Given the description of an element on the screen output the (x, y) to click on. 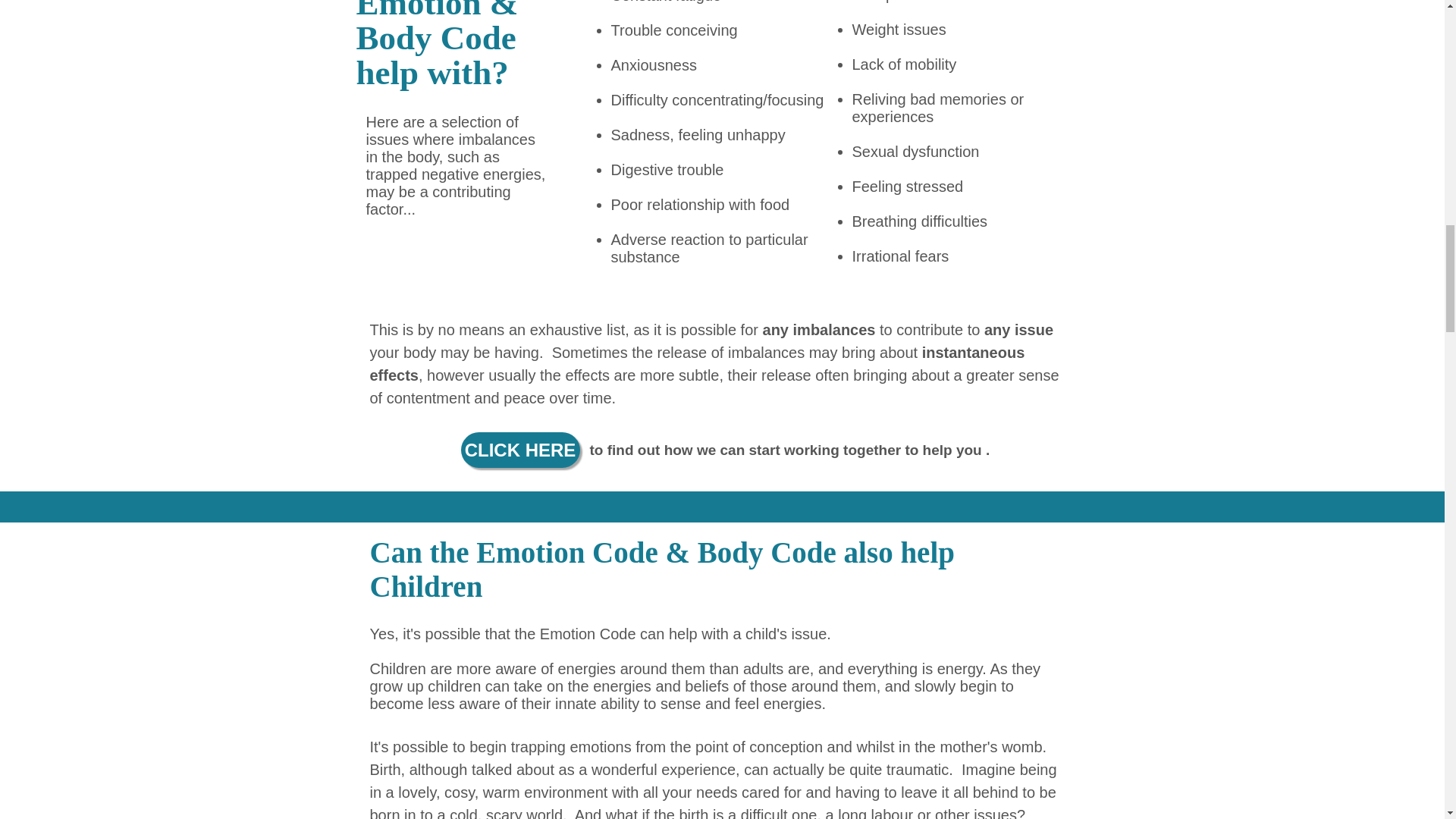
CLICK HERE (520, 449)
